Given the description of an element on the screen output the (x, y) to click on. 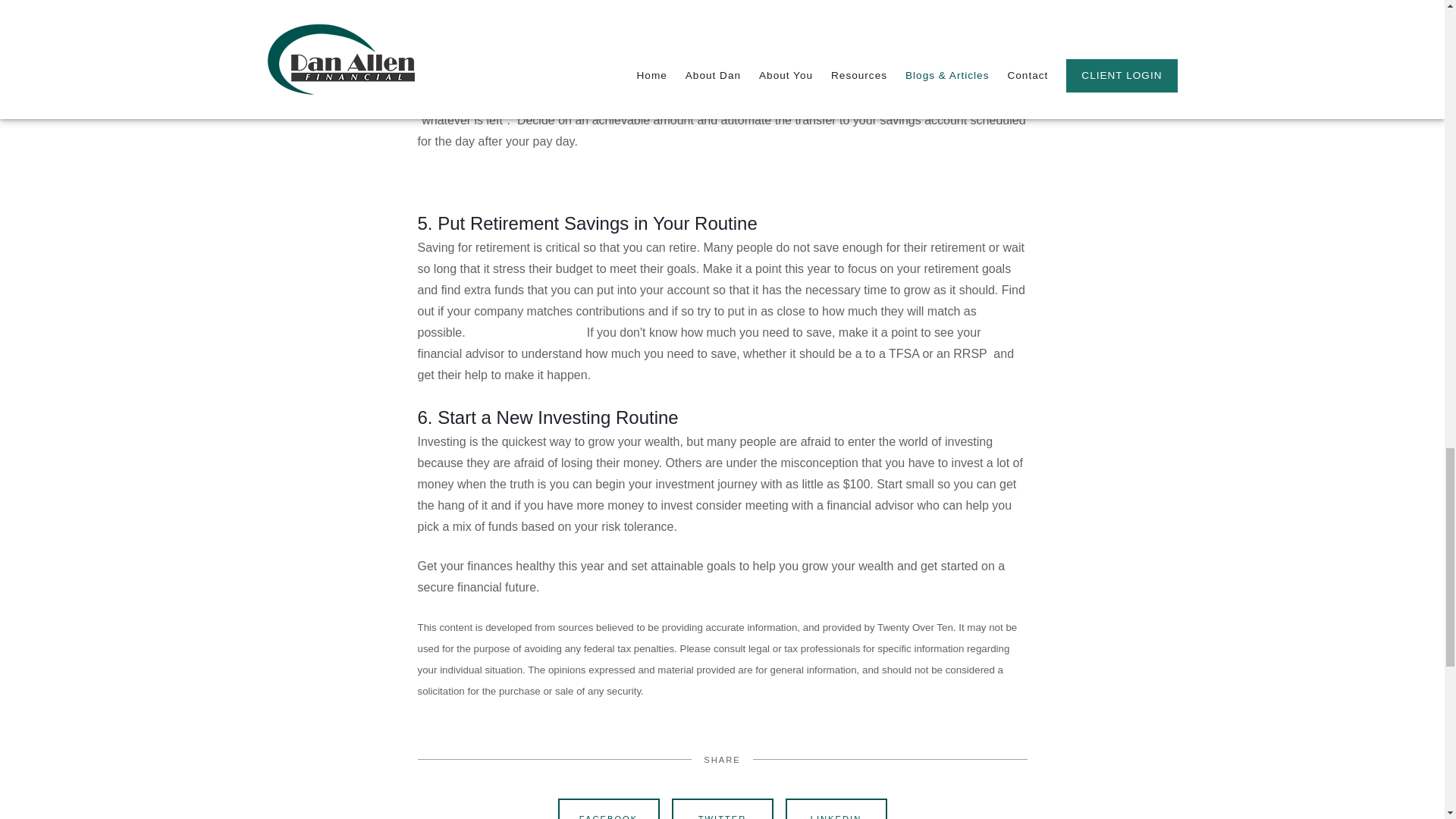
LINKEDIN (836, 808)
FACEBOOK (608, 808)
TWITTER (722, 808)
